Given the description of an element on the screen output the (x, y) to click on. 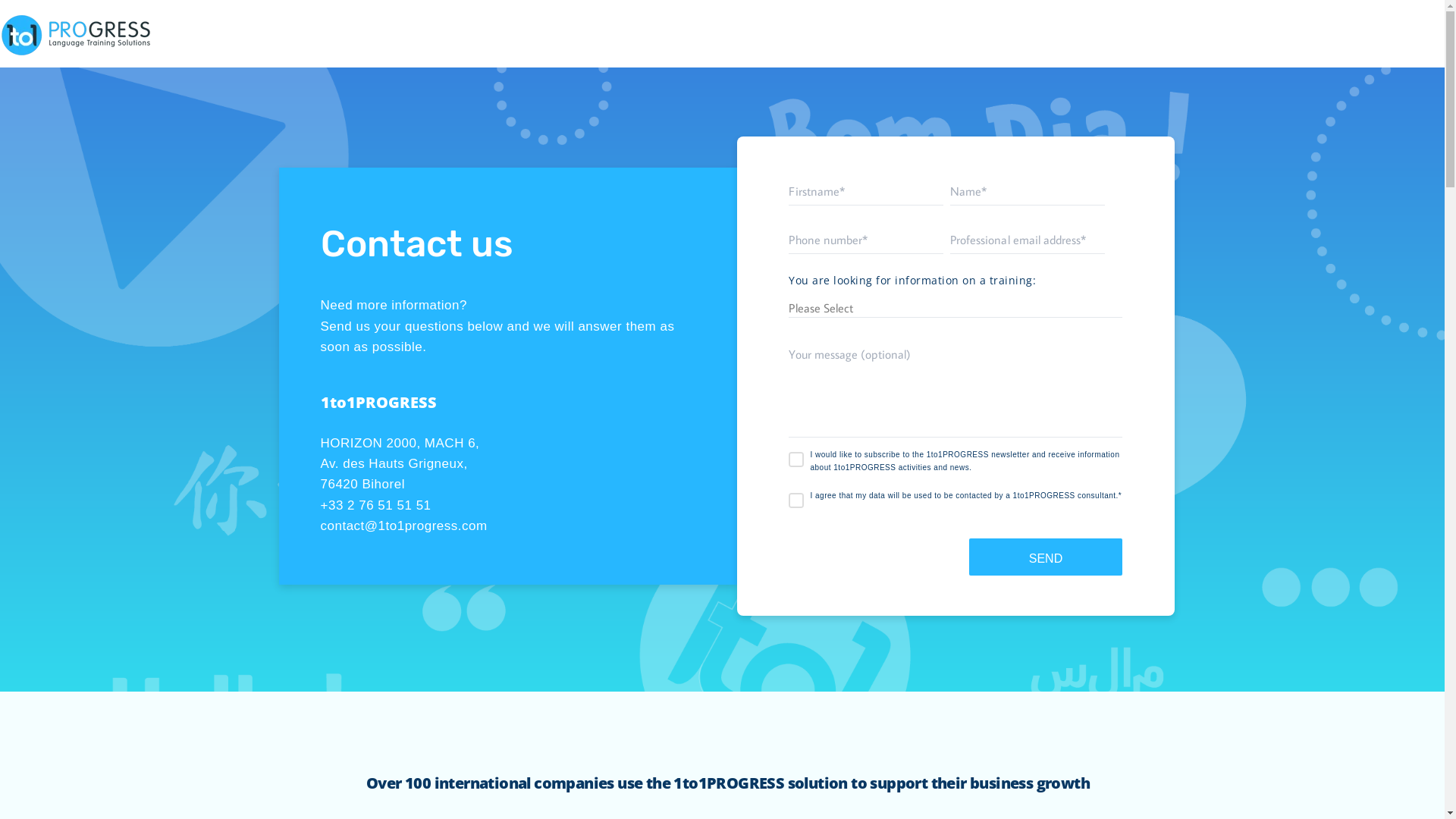
NEW LOGO Element type: hover (75, 35)
Send Element type: text (1045, 556)
